Given the description of an element on the screen output the (x, y) to click on. 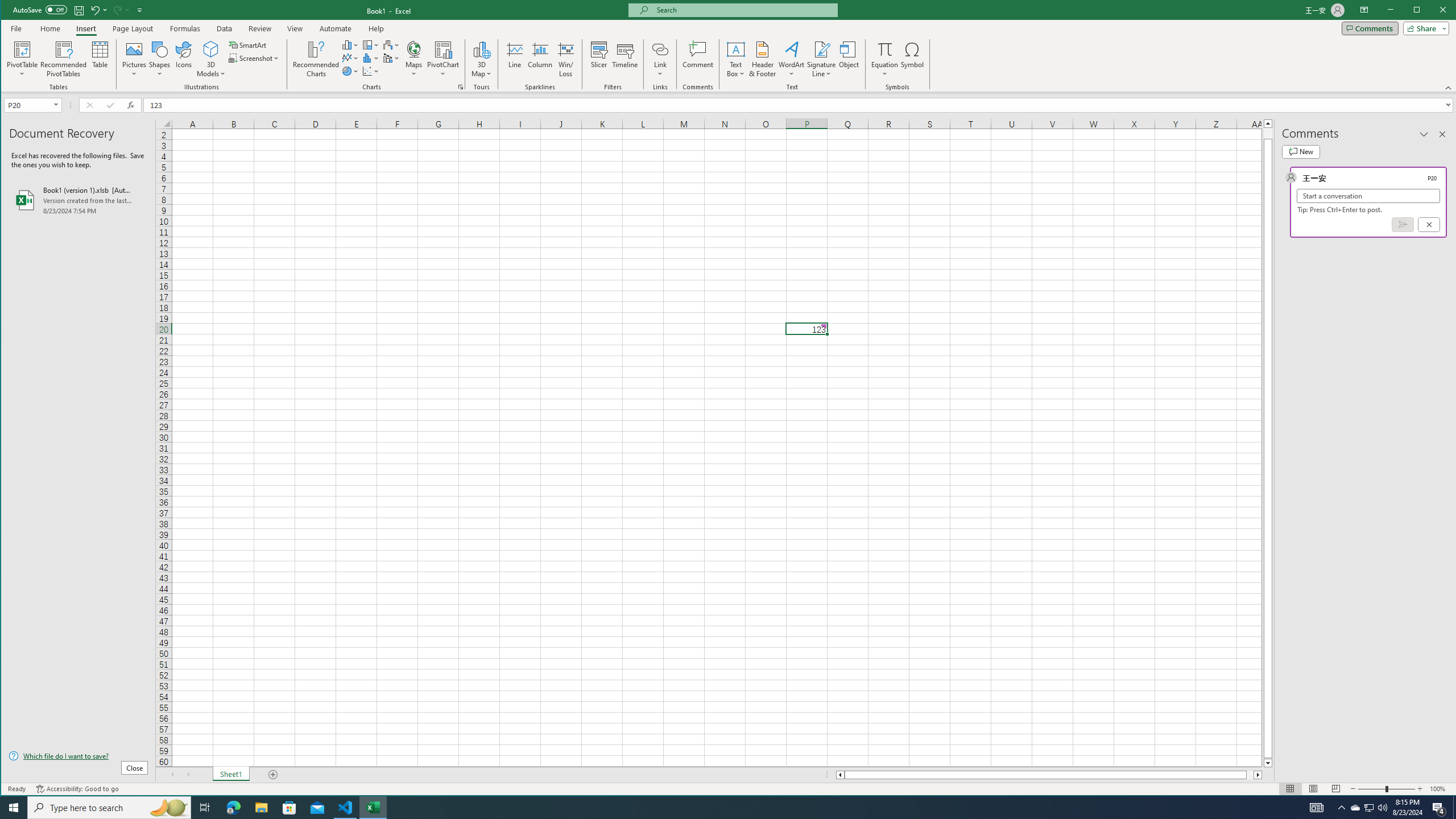
Signature Line (821, 59)
Page up (1267, 132)
3D Map (481, 59)
Object... (848, 59)
PivotChart (443, 59)
Recommended PivotTables (63, 59)
Shapes (159, 59)
Timeline (625, 59)
Symbol... (912, 59)
